Given the description of an element on the screen output the (x, y) to click on. 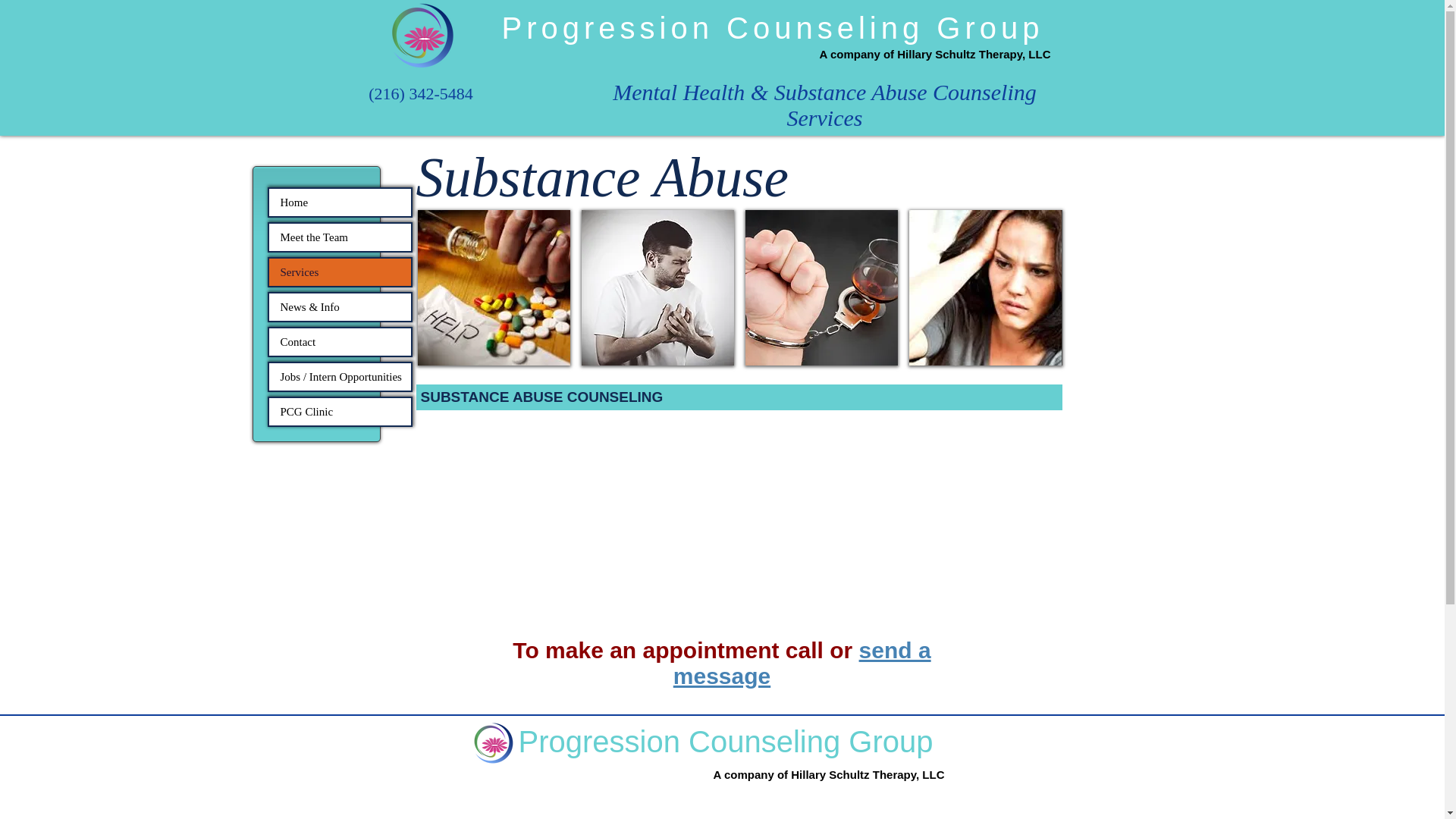
PCG Clinic (338, 411)
Meet the Team (338, 236)
Contact (338, 341)
Home (338, 202)
send a message (801, 663)
